Given the description of an element on the screen output the (x, y) to click on. 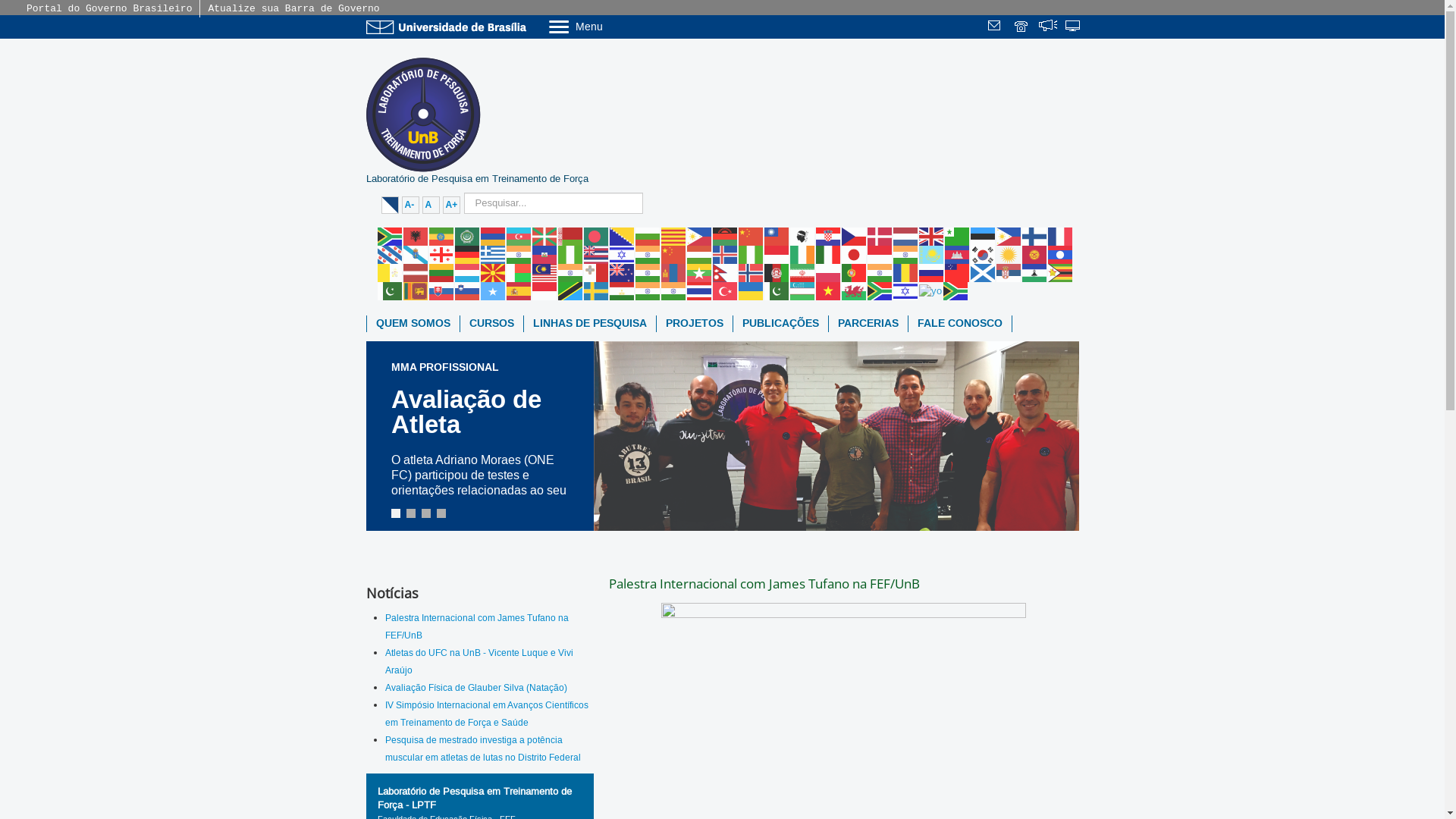
Kyrgyz Element type: hover (1035, 253)
Marathi Element type: hover (648, 272)
FALE CONOSCO Element type: text (959, 323)
Welsh Element type: hover (854, 290)
Greek Element type: hover (493, 253)
Albanian Element type: hover (416, 235)
Hebrew Element type: hover (622, 253)
Spanish Element type: hover (519, 290)
Turkish Element type: hover (725, 290)
  Element type: text (996, 27)
Portal do Governo Brasileiro Element type: text (108, 8)
Romanian Element type: hover (906, 272)
Norwegian Element type: hover (751, 272)
Sindhi Element type: hover (390, 290)
Pashto Element type: hover (777, 272)
Lithuanian Element type: hover (442, 272)
Malagasy Element type: hover (519, 272)
Telefones da UnB Element type: hover (1022, 27)
Sinhala Element type: hover (416, 290)
Amharic Element type: hover (442, 235)
Shona Element type: hover (1060, 272)
Maltese Element type: hover (596, 272)
Portuguese Element type: hover (854, 272)
Hungarian Element type: hover (699, 253)
Russian Element type: hover (931, 272)
Catalan Element type: hover (674, 235)
Chinese (Simplified) Element type: hover (751, 235)
Slovenian Element type: hover (467, 290)
Afrikaans Element type: hover (390, 235)
Bosnian Element type: hover (622, 235)
Latin Element type: hover (390, 272)
Azerbaijani Element type: hover (519, 235)
Luxembourgish Element type: hover (467, 272)
Persian Element type: hover (802, 272)
  Element type: text (1047, 27)
Esperanto Element type: hover (957, 235)
Finnish Element type: hover (1035, 235)
Malay Element type: hover (545, 272)
CURSOS Element type: text (490, 323)
Haitian Creole Element type: hover (545, 253)
Ir para o Portal da UnB Element type: hover (448, 26)
Sundanese Element type: hover (545, 290)
Urdu Element type: hover (777, 290)
Lao Element type: hover (1060, 253)
Uzbek Element type: hover (802, 290)
Cebuano Element type: hover (699, 235)
Maori Element type: hover (622, 272)
Atualize sua Barra de Governo Element type: text (293, 8)
German Element type: hover (467, 253)
Japanese Element type: hover (854, 253)
Serbian Element type: hover (1009, 272)
Ukrainian Element type: hover (751, 290)
Estonian Element type: hover (983, 235)
  Element type: text (1022, 27)
Javanese Element type: hover (880, 253)
A Element type: text (430, 204)
Arabic Element type: hover (467, 235)
Nepali Element type: hover (725, 272)
Swahili Element type: hover (570, 290)
Fala.BR Element type: hover (1047, 27)
Georgian Element type: hover (442, 253)
Bulgarian Element type: hover (648, 235)
PROJETOS Element type: text (694, 323)
Basque Element type: hover (545, 235)
Mongolian Element type: hover (674, 272)
Zulu Element type: hover (956, 290)
Chinese (Traditional) Element type: hover (777, 235)
Igbo Element type: hover (751, 253)
Telugu Element type: hover (674, 290)
Samoan Element type: hover (957, 272)
Belarusian Element type: hover (570, 235)
Palestra Internacional com James Tufano na FEF/UnB Element type: text (476, 626)
A+ Element type: text (451, 204)
Vietnamese Element type: hover (828, 290)
Yiddish Element type: hover (906, 290)
Danish Element type: hover (880, 235)
Khmer Element type: hover (957, 253)
Hindi Element type: hover (648, 253)
LINHAS DE PESQUISA Element type: text (589, 323)
Menu Element type: text (613, 25)
Armenian Element type: hover (493, 235)
Somali Element type: hover (493, 290)
Tajik Element type: hover (622, 290)
Gujarati Element type: hover (519, 253)
Sistemas Element type: hover (1073, 27)
Webmail Element type: hover (996, 27)
Korean Element type: hover (983, 253)
Yoruba Element type: hover (931, 290)
QUEM SOMOS Element type: text (413, 323)
Slovak Element type: hover (442, 290)
Kannada Element type: hover (906, 253)
French Element type: hover (1060, 235)
Icelandic Element type: hover (725, 253)
Sesotho Element type: hover (1035, 272)
Irish Element type: hover (802, 253)
Macedonian Element type: hover (493, 272)
Scottish Gaelic Element type: hover (983, 272)
Tamil Element type: hover (648, 290)
Malayalam Element type: hover (570, 272)
Swedish Element type: hover (596, 290)
Latvian Element type: hover (416, 272)
Bengali Element type: hover (596, 235)
A- Element type: text (410, 204)
Hmong Element type: hover (674, 253)
Indonesian Element type: hover (777, 253)
PARCERIAS Element type: text (867, 323)
Dutch Element type: hover (906, 235)
Xhosa Element type: hover (880, 290)
Czech Element type: hover (854, 235)
Kurdish (Kurmanji) Element type: hover (1009, 253)
Myanmar (Burmese) Element type: hover (699, 272)
Filipino Element type: hover (1009, 235)
Thai Element type: hover (699, 290)
Galician Element type: hover (416, 253)
Italian Element type: hover (828, 253)
Polish Element type: hover (828, 272)
Hawaiian Element type: hover (596, 253)
Punjabi Element type: hover (880, 272)
  Element type: text (1073, 27)
Kazakh Element type: hover (931, 253)
Corsican Element type: hover (802, 235)
Hausa Element type: hover (570, 253)
Croatian Element type: hover (828, 235)
English Element type: hover (931, 235)
Frisian Element type: hover (390, 253)
Chichewa Element type: hover (725, 235)
